Given the description of an element on the screen output the (x, y) to click on. 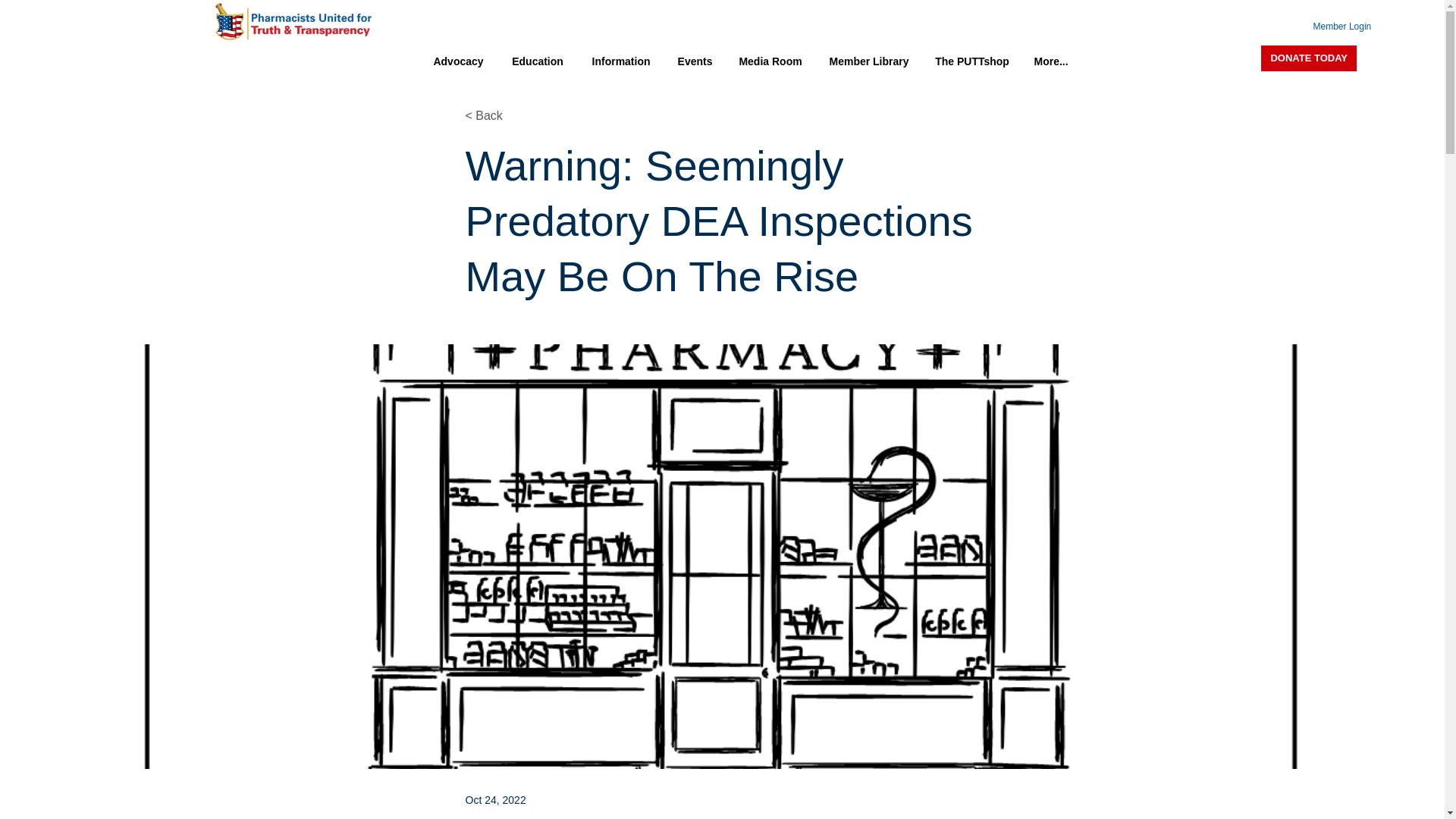
Information (620, 61)
The PUTTshop (971, 61)
Member Login (1328, 26)
Media Room (770, 61)
Events (695, 61)
Advocacy (458, 61)
DONATE TODAY (1308, 58)
Education (536, 61)
Member Library (868, 61)
